Given the description of an element on the screen output the (x, y) to click on. 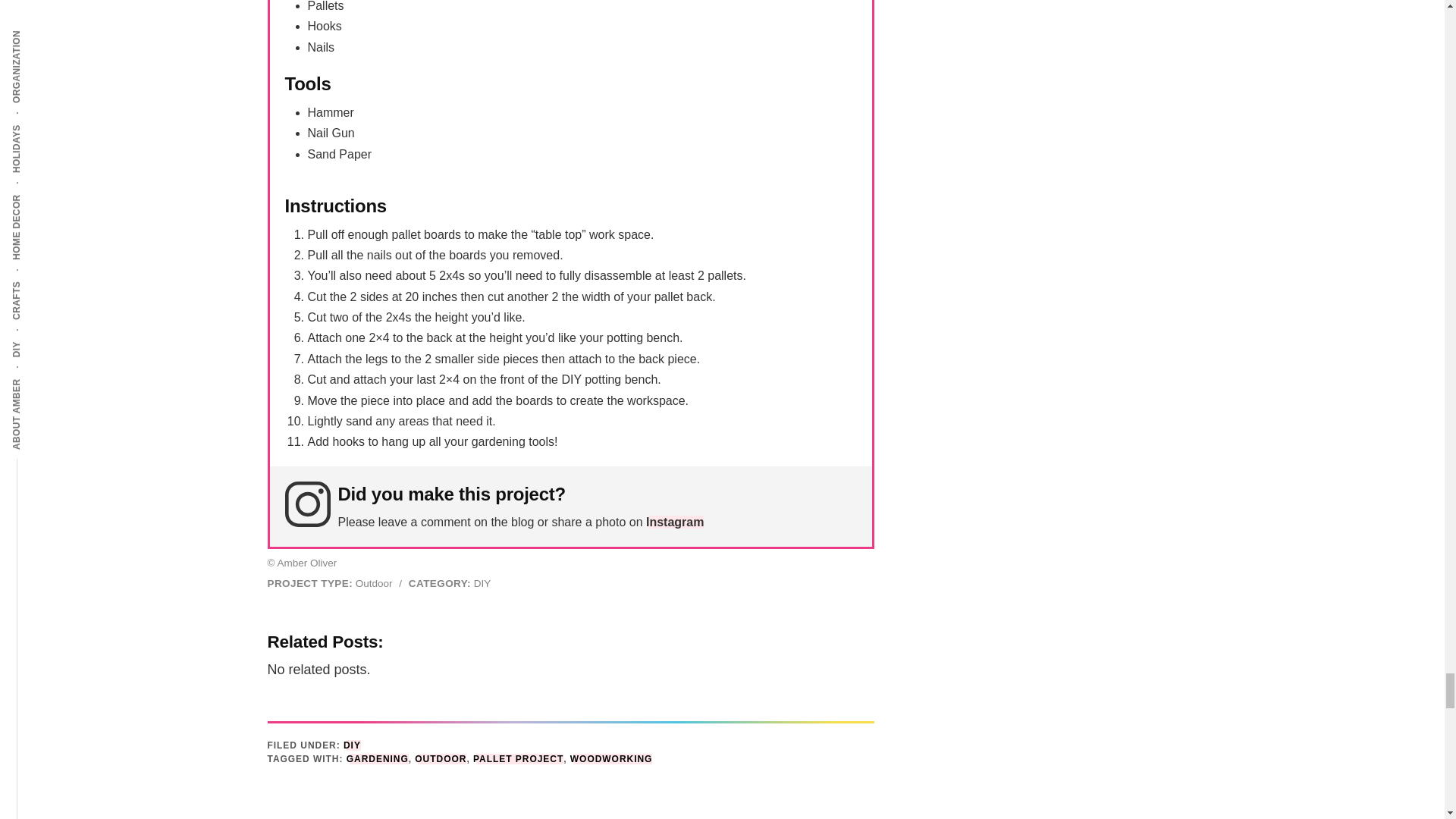
PALLET PROJECT (518, 758)
GARDENING (377, 758)
WOODWORKING (611, 758)
Instagram (674, 521)
DIY (352, 745)
OUTDOOR (439, 758)
